Given the description of an element on the screen output the (x, y) to click on. 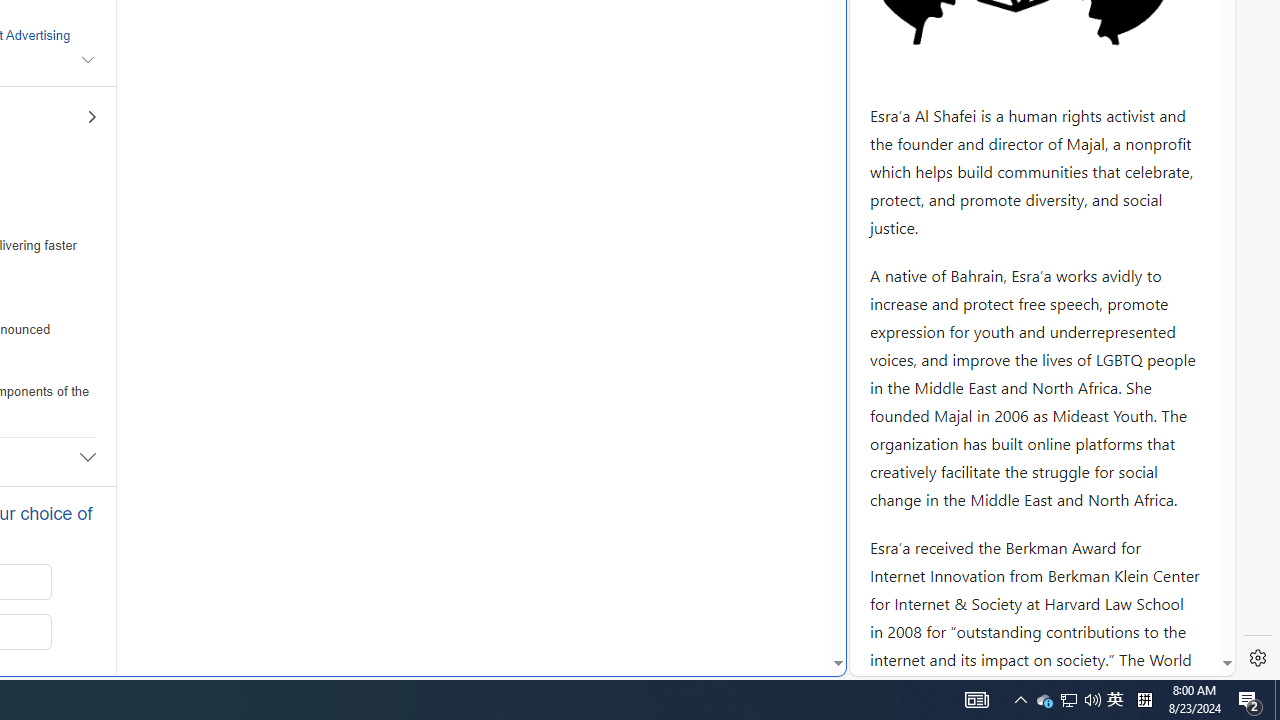
google_privacy_policy_zh-CN.pdf (687, 482)
Global web icon (888, 663)
Search more (792, 604)
Actions for this site (1129, 306)
MSN (687, 223)
